Given the description of an element on the screen output the (x, y) to click on. 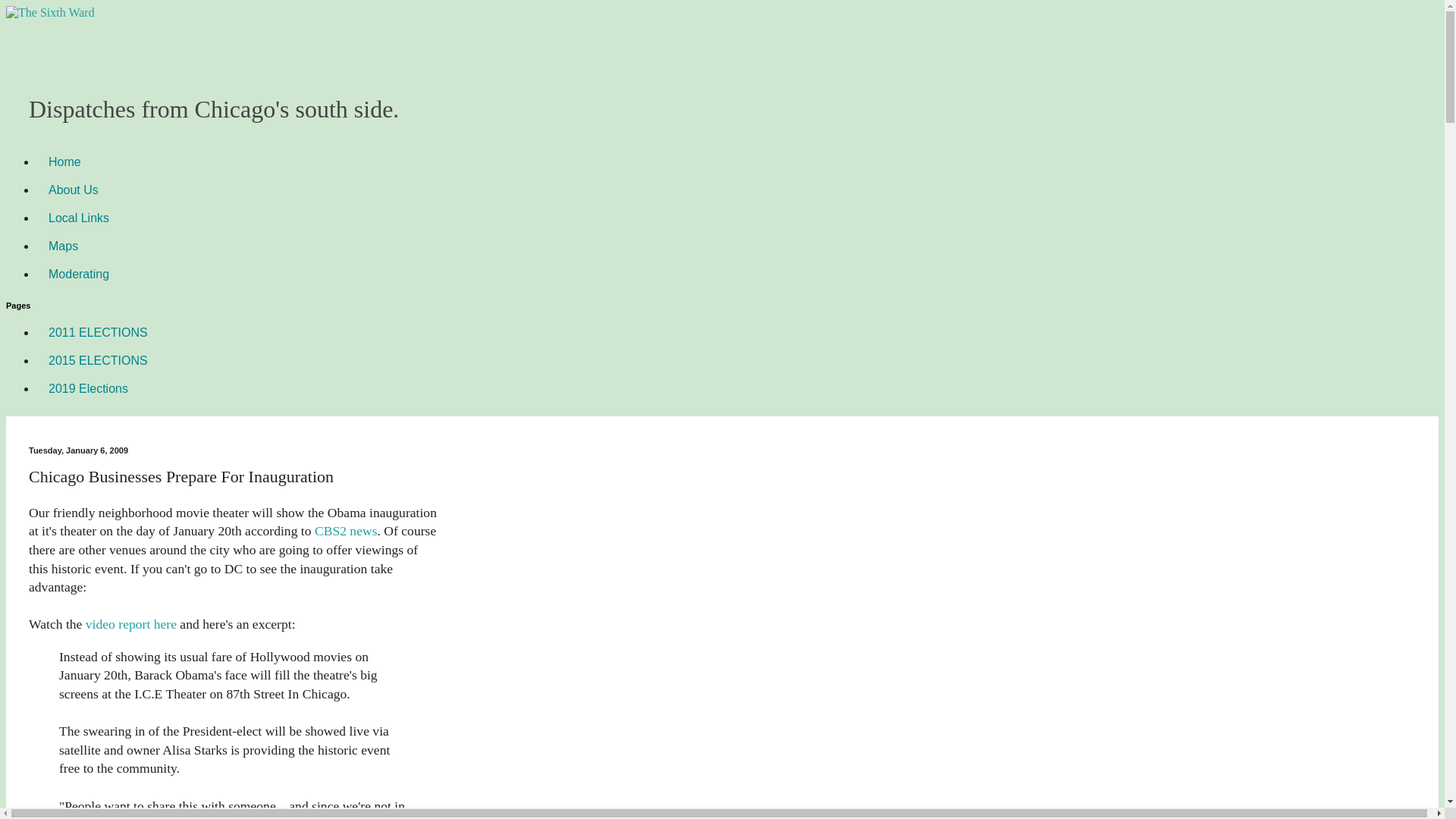
2011 ELECTIONS (98, 332)
Moderating (78, 275)
2015 ELECTIONS (98, 360)
Home (64, 162)
Local Links (78, 217)
video report here (130, 623)
Maps (63, 246)
2019 Elections (87, 388)
CBS2 news (345, 530)
About Us (73, 189)
